Given the description of an element on the screen output the (x, y) to click on. 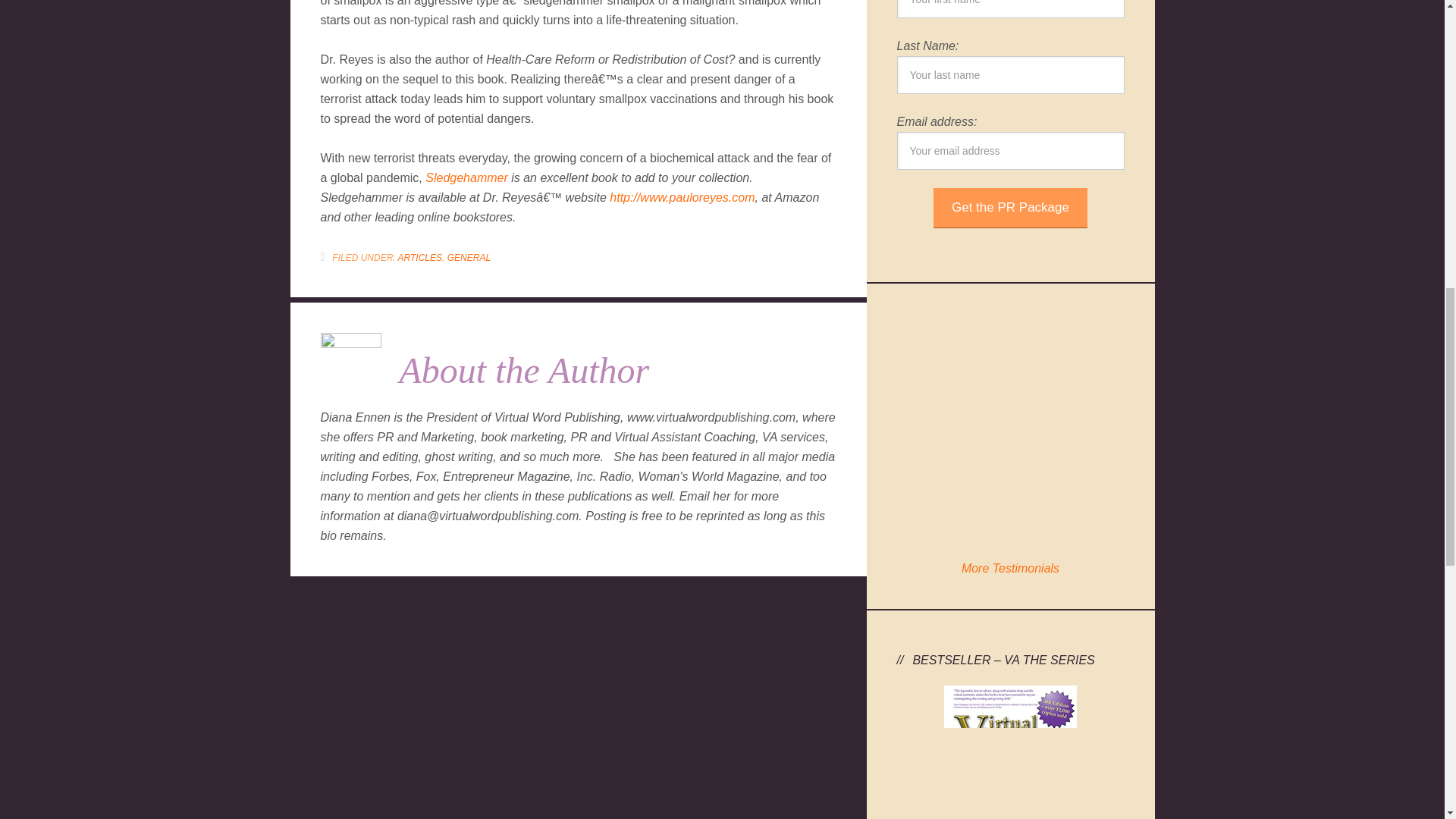
Get the PR Package (1010, 207)
GENERAL (468, 257)
ARTICLES (419, 257)
More Testimonials (1009, 567)
Sledgehammer (466, 177)
Get the PR Package (1010, 207)
